Given the description of an element on the screen output the (x, y) to click on. 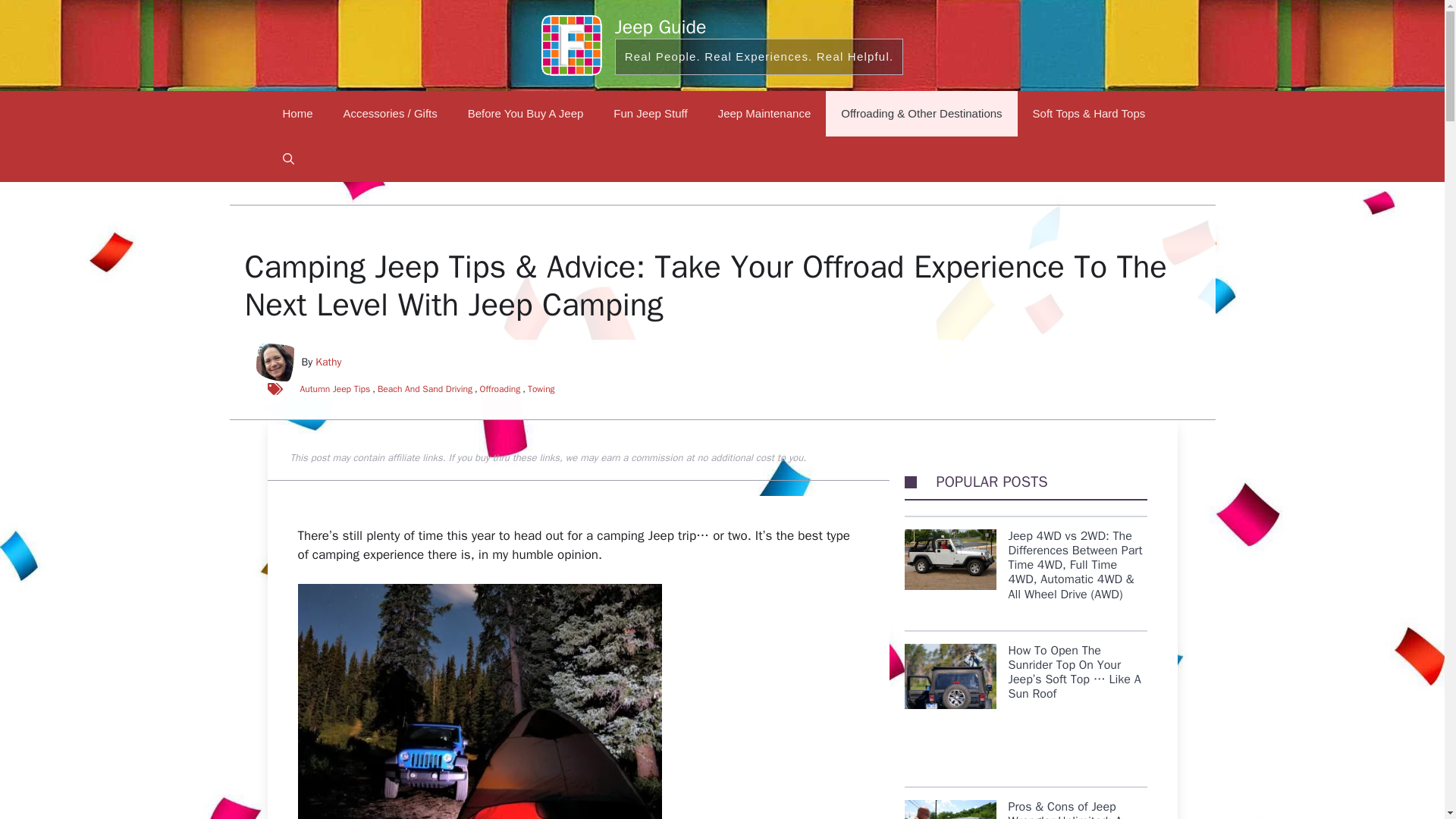
Towing (540, 388)
Jeep Maintenance (765, 113)
Home (296, 113)
Autumn Jeep Tips (335, 388)
Before You Buy A Jeep (525, 113)
Beach And Sand Driving (424, 388)
Jeep Guide (660, 26)
Kathy (327, 361)
Offroading (500, 388)
Fun Jeep Stuff (649, 113)
